Given the description of an element on the screen output the (x, y) to click on. 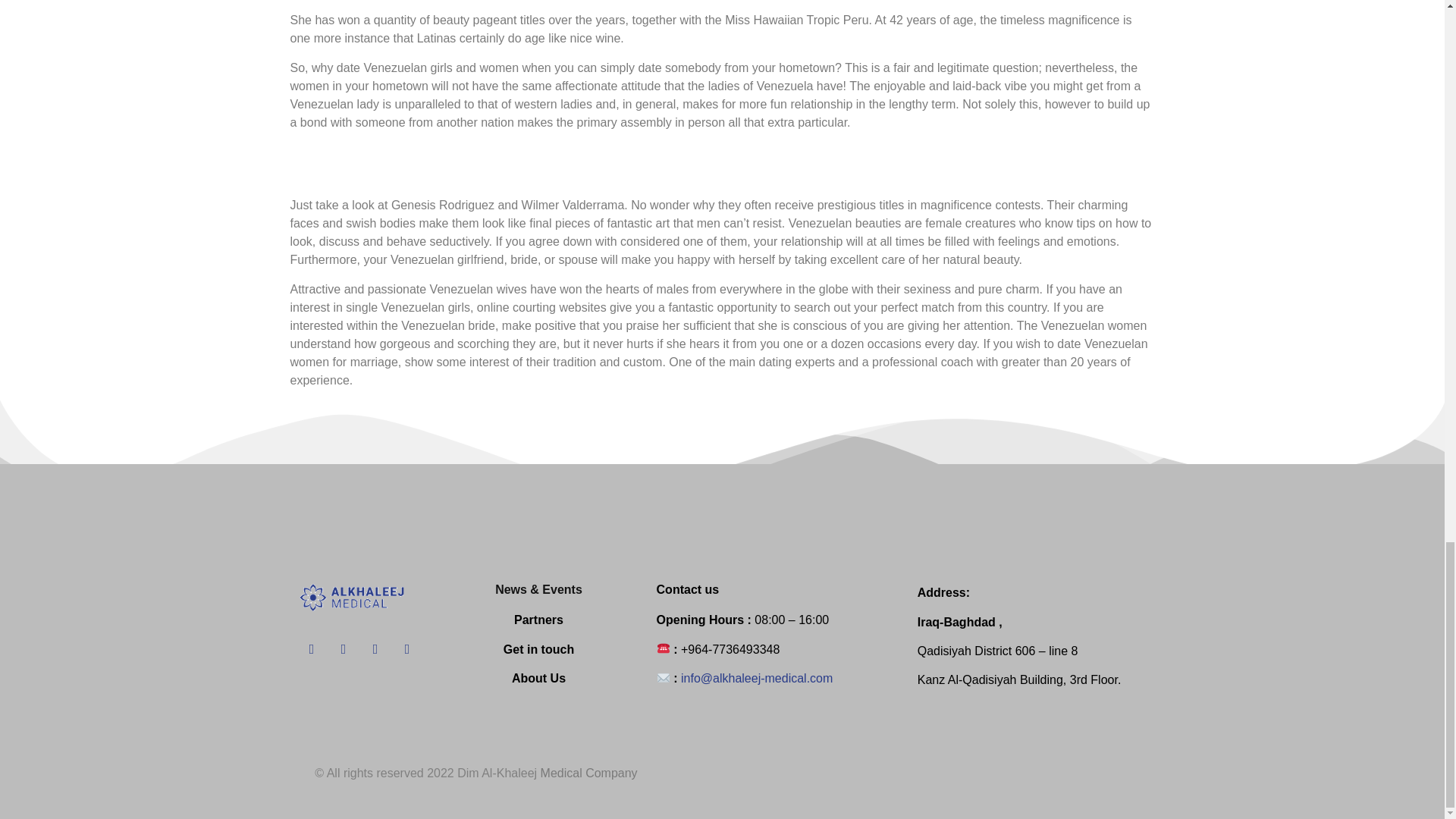
Kanz Al-Qadisiyah Building, 3rd Floor. (1019, 679)
About Us (539, 677)
Get in touch (538, 649)
Partners (538, 619)
